Given the description of an element on the screen output the (x, y) to click on. 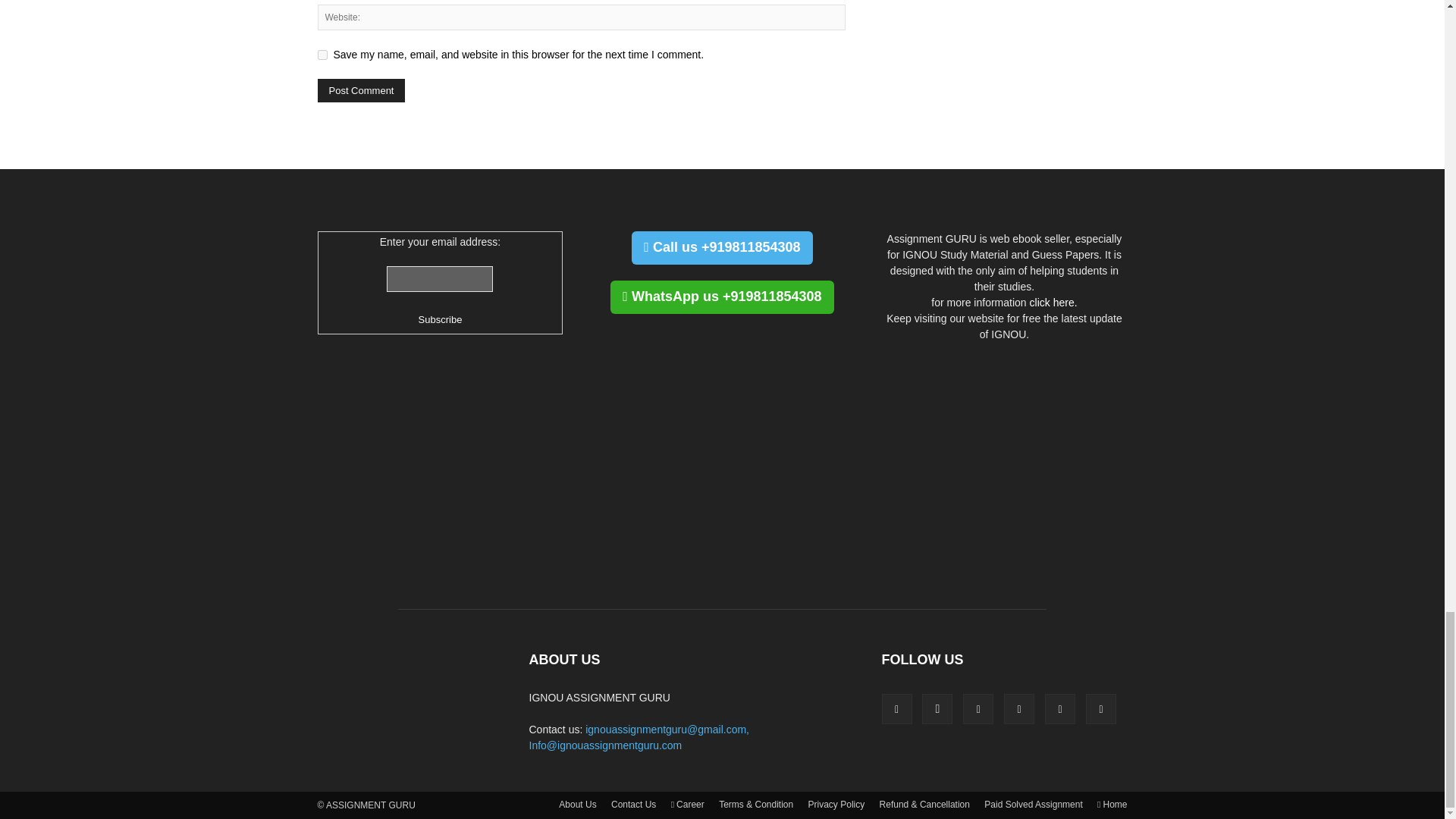
Post Comment (360, 90)
Subscribe (440, 319)
yes (321, 54)
